Given the description of an element on the screen output the (x, y) to click on. 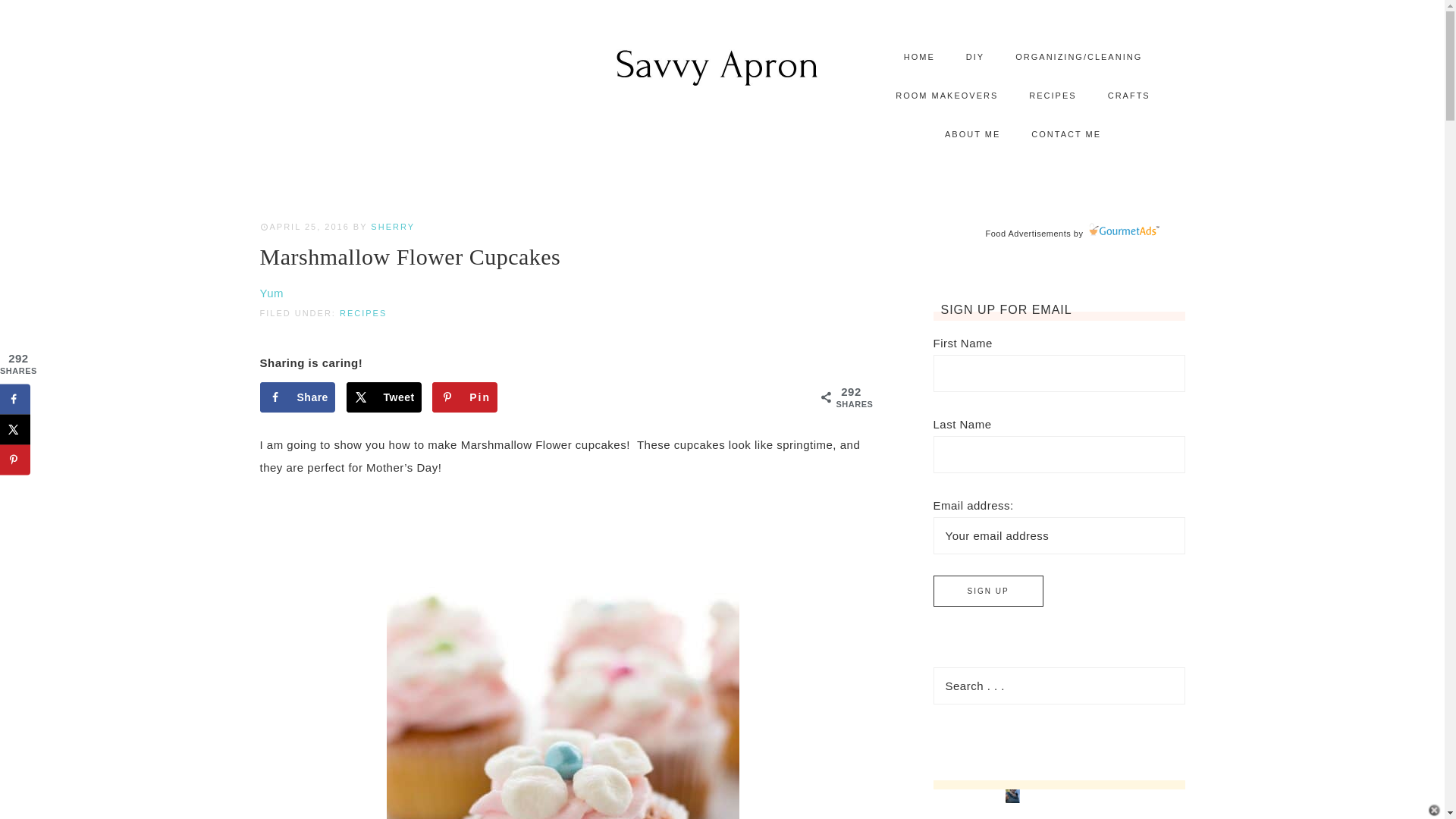
Share on Facebook (296, 397)
Pin (464, 397)
Share (296, 397)
CRAFTS (1128, 95)
Share on X (15, 429)
DIY (974, 56)
RECIPES (1051, 95)
Yum (271, 292)
Share on X (384, 397)
Food Advertisements (1027, 233)
RECIPES (363, 312)
ABOUT ME (972, 134)
Tweet (384, 397)
HOME (919, 56)
